Given the description of an element on the screen output the (x, y) to click on. 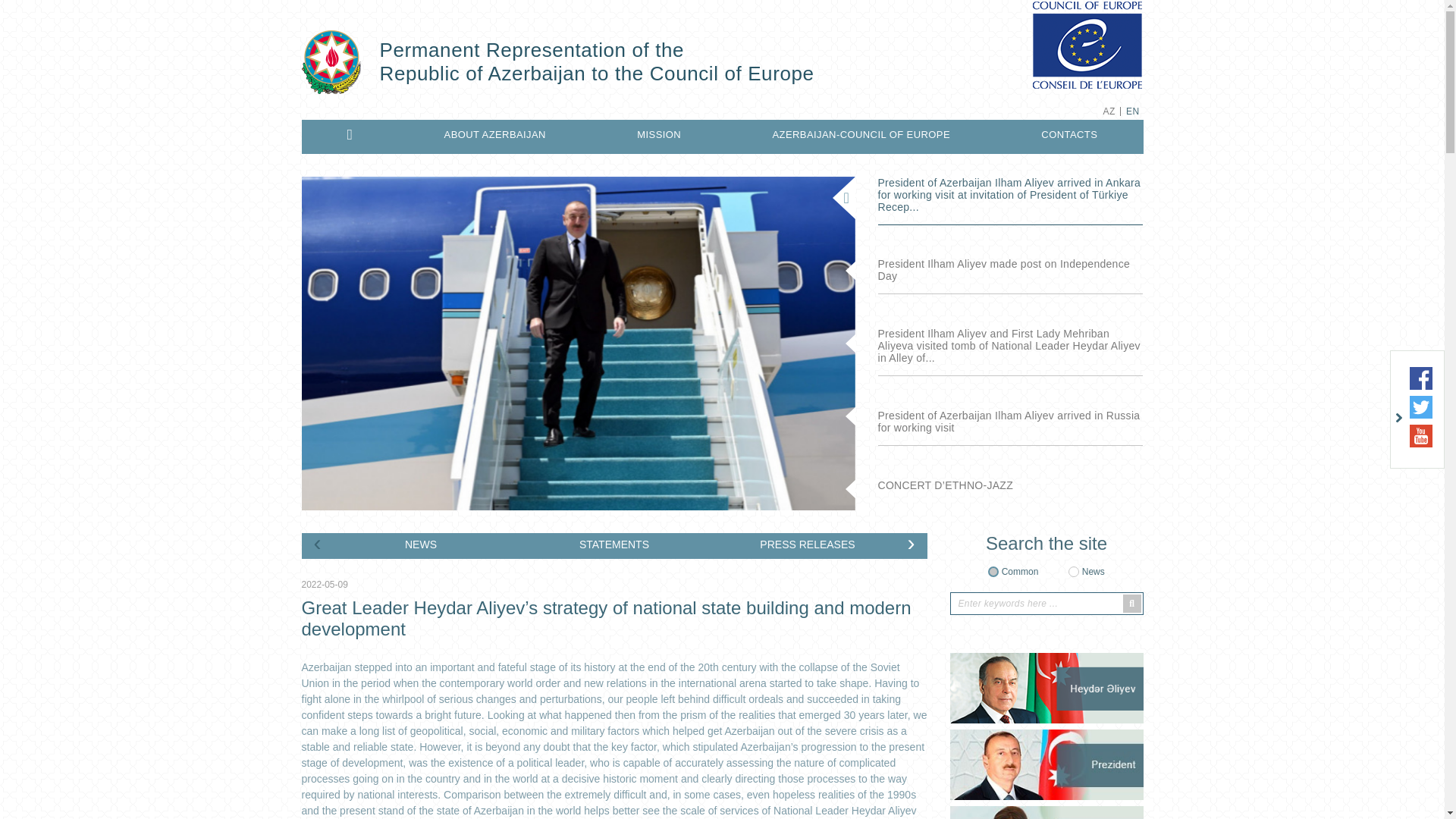
MISSION (658, 134)
ABOUT AZERBAIJAN (494, 134)
AZ (1109, 111)
NEWS (421, 544)
President Ilham Aliyev made post on Independence Day (1009, 269)
STATEMENTS (613, 544)
CONTACTS (1069, 134)
AZERBAIJAN-COUNCIL OF EUROPE (860, 134)
EN (1132, 111)
PRESS RELEASES (807, 544)
